Given the description of an element on the screen output the (x, y) to click on. 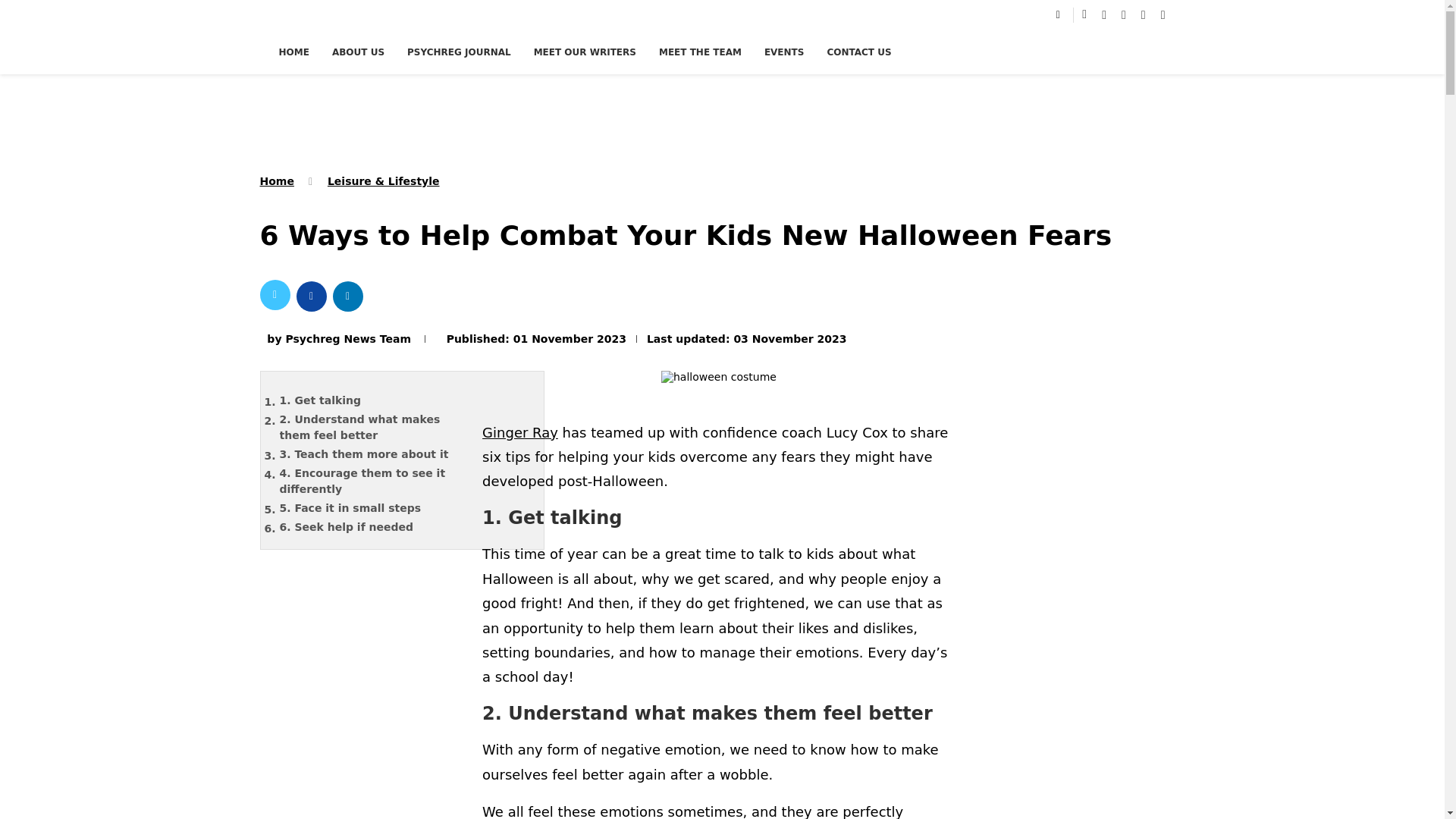
ABOUT US (357, 52)
halloween costume (718, 380)
CONTACT US (859, 52)
EVENTS (784, 52)
PSYCHREG JOURNAL (459, 52)
2. Understand what makes them feel better (373, 427)
1. Get talking (373, 400)
6. Seek help if needed (373, 527)
4. Encourage them to see it differently (373, 481)
MEET THE TEAM (700, 52)
MEET OUR WRITERS (585, 52)
5. Face it in small steps (373, 507)
3. Teach them more about it (373, 454)
